Given the description of an element on the screen output the (x, y) to click on. 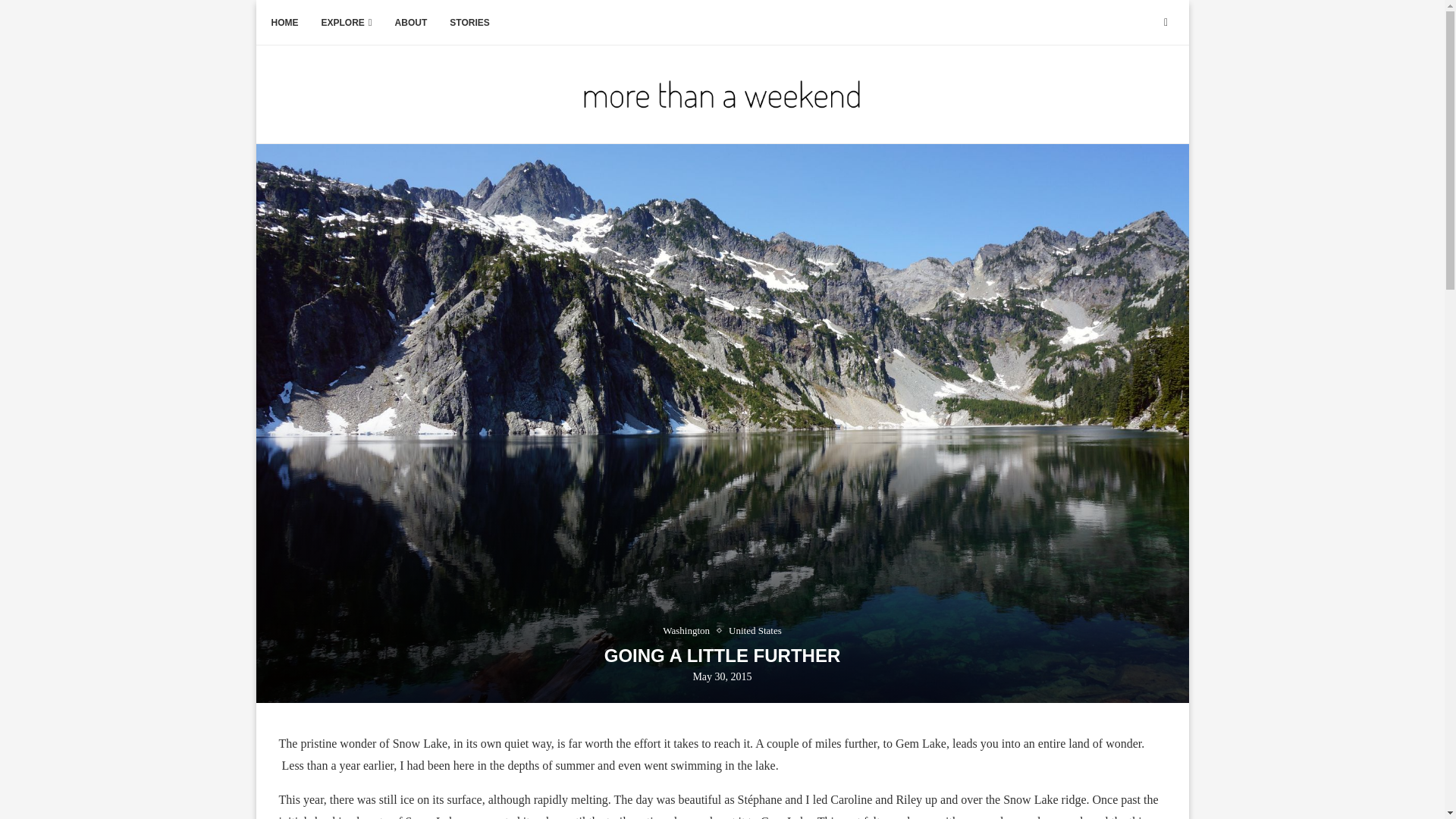
EXPLORE (346, 22)
United States (755, 630)
Washington (689, 630)
STORIES (469, 22)
